Given the description of an element on the screen output the (x, y) to click on. 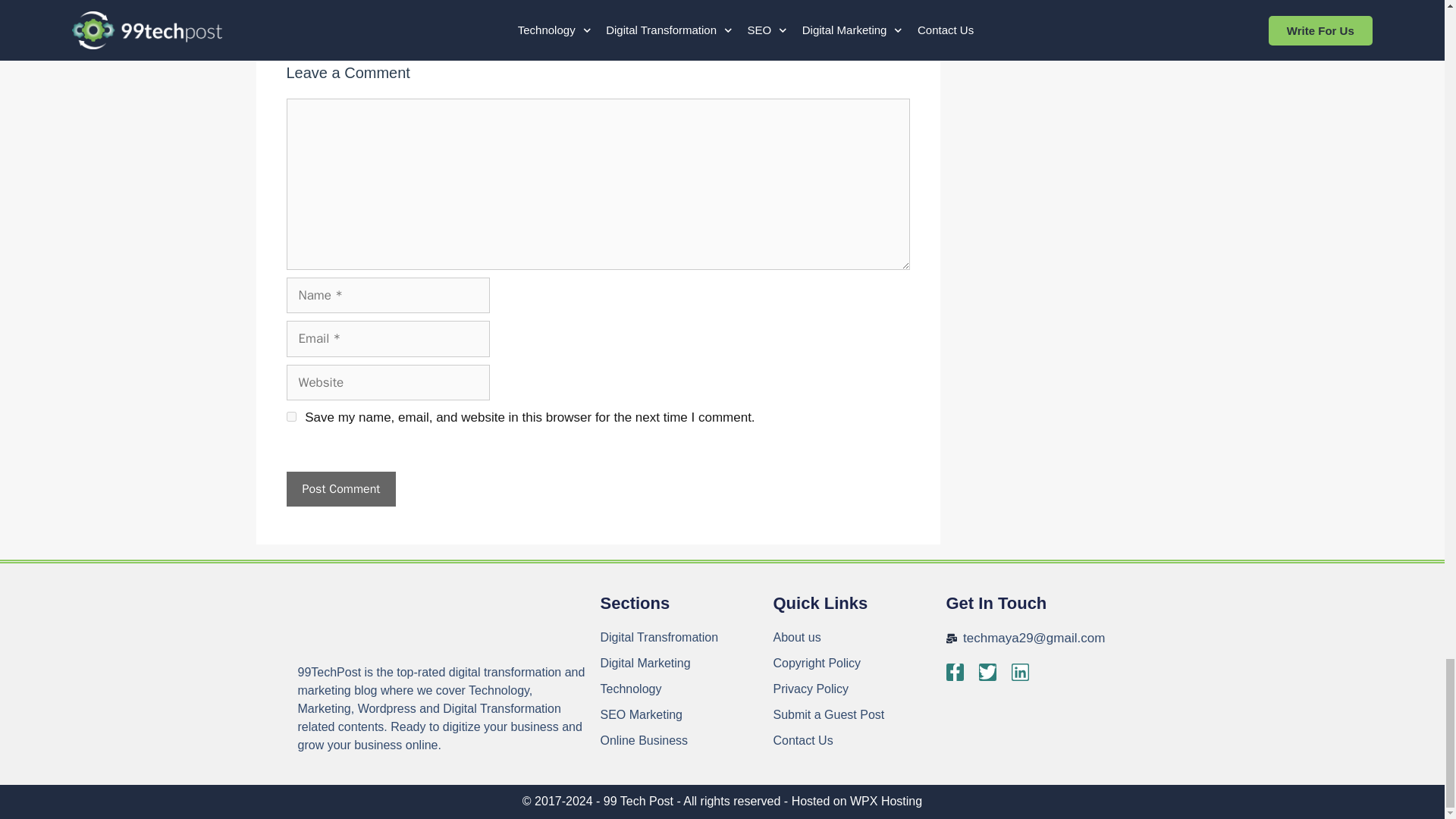
Post Comment (341, 488)
yes (291, 416)
